Given the description of an element on the screen output the (x, y) to click on. 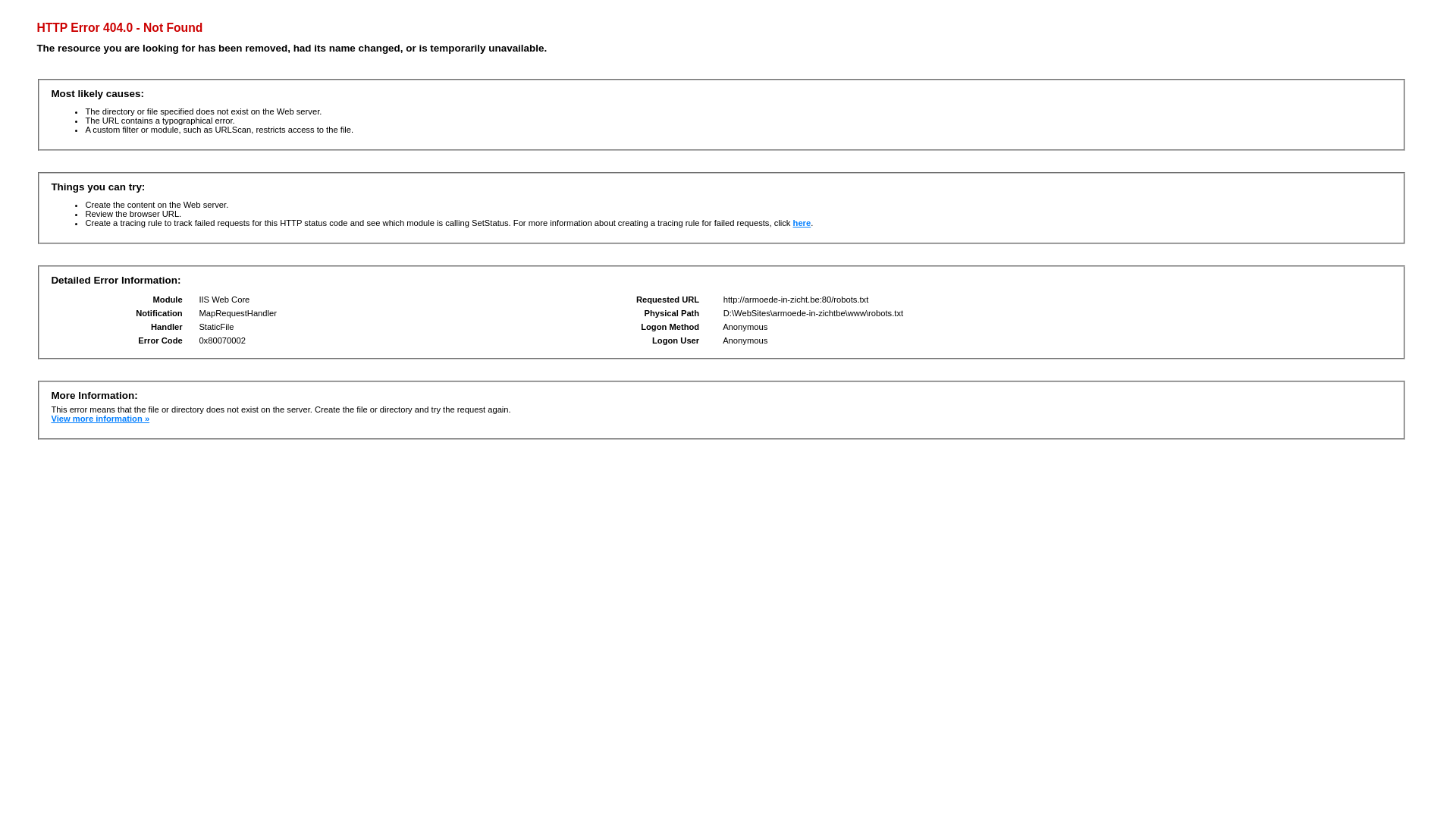
here Element type: text (802, 222)
